Given the description of an element on the screen output the (x, y) to click on. 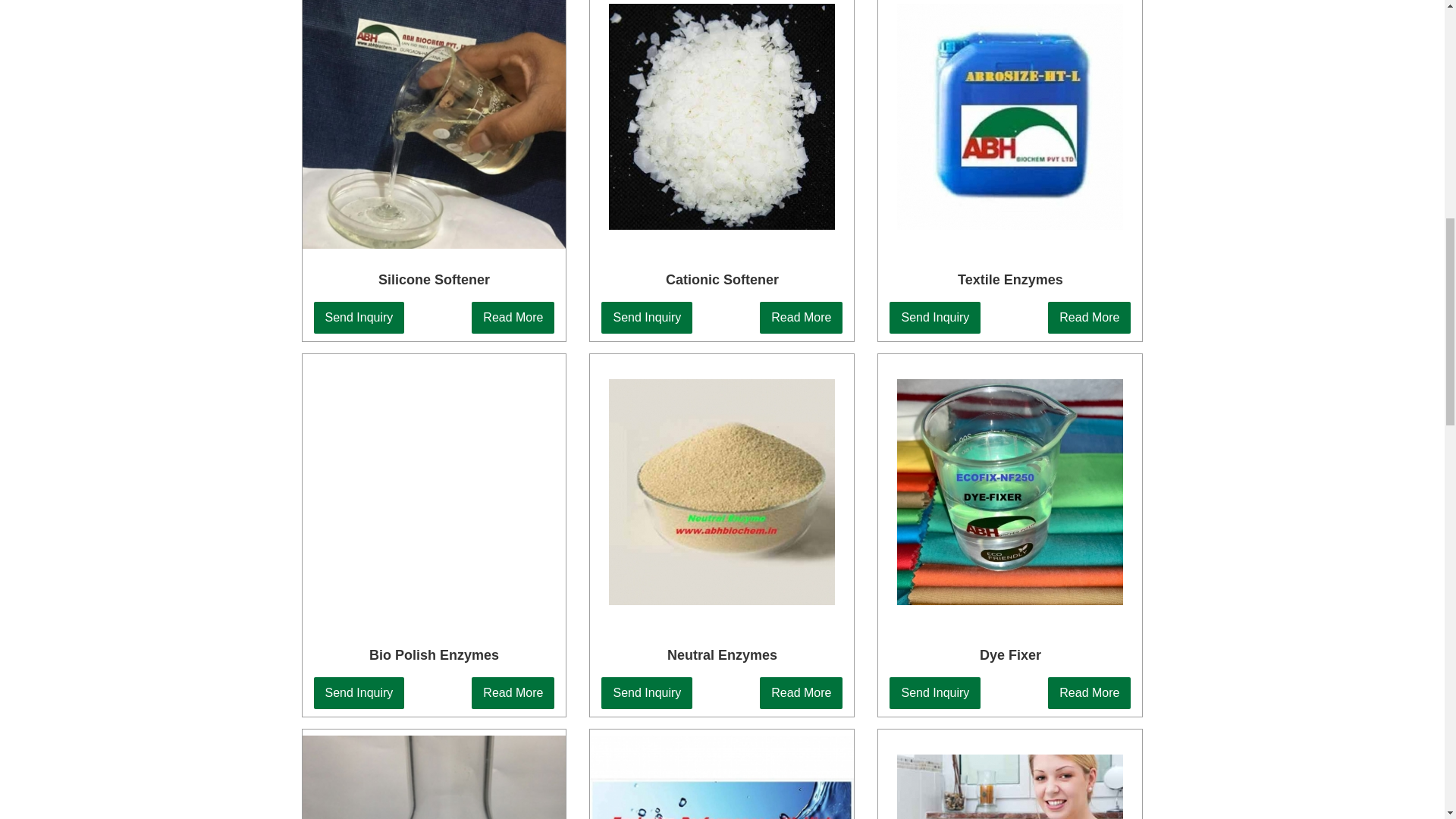
Textile Enzymes (1112, 281)
Silicone Softener (759, 281)
Read More (754, 317)
Cationic Softener (918, 281)
Send Inquiry (639, 317)
Read More (1167, 317)
Send Inquiry (813, 317)
Read More (940, 317)
Send Inquiry (1025, 317)
